Given the description of an element on the screen output the (x, y) to click on. 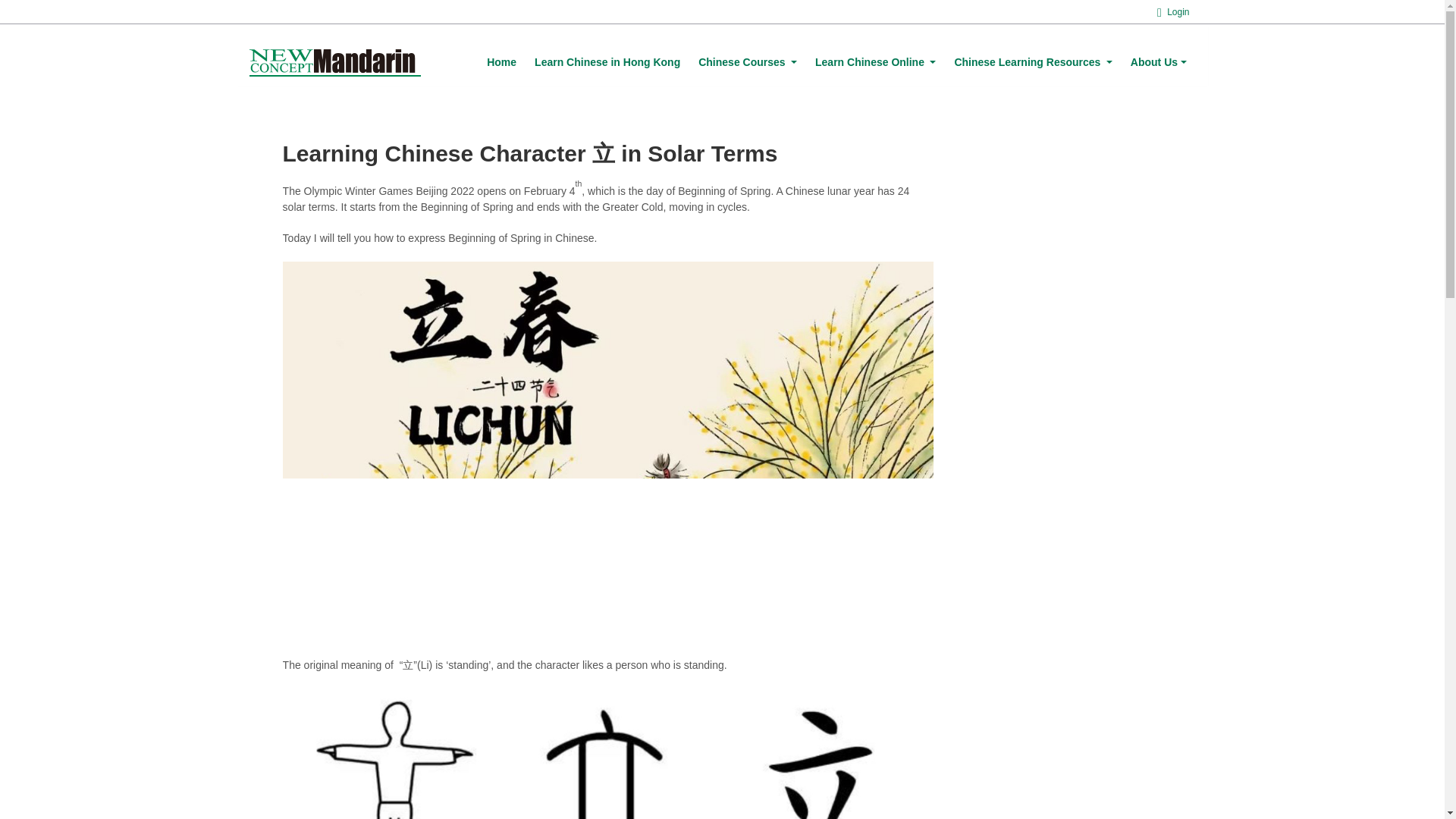
Login (1173, 11)
New Concept Mandarin School (334, 62)
Member login (1173, 11)
Chinese Learning Resources (1032, 62)
Chinese Courses (748, 62)
Best Mandarin Chinese Classes in Hong Kong (606, 62)
Chinese Courses (748, 62)
New Concept Mandarin School (334, 62)
Learn Chinese in Hong Kong (606, 62)
Learn Chinese Online (875, 62)
